Given the description of an element on the screen output the (x, y) to click on. 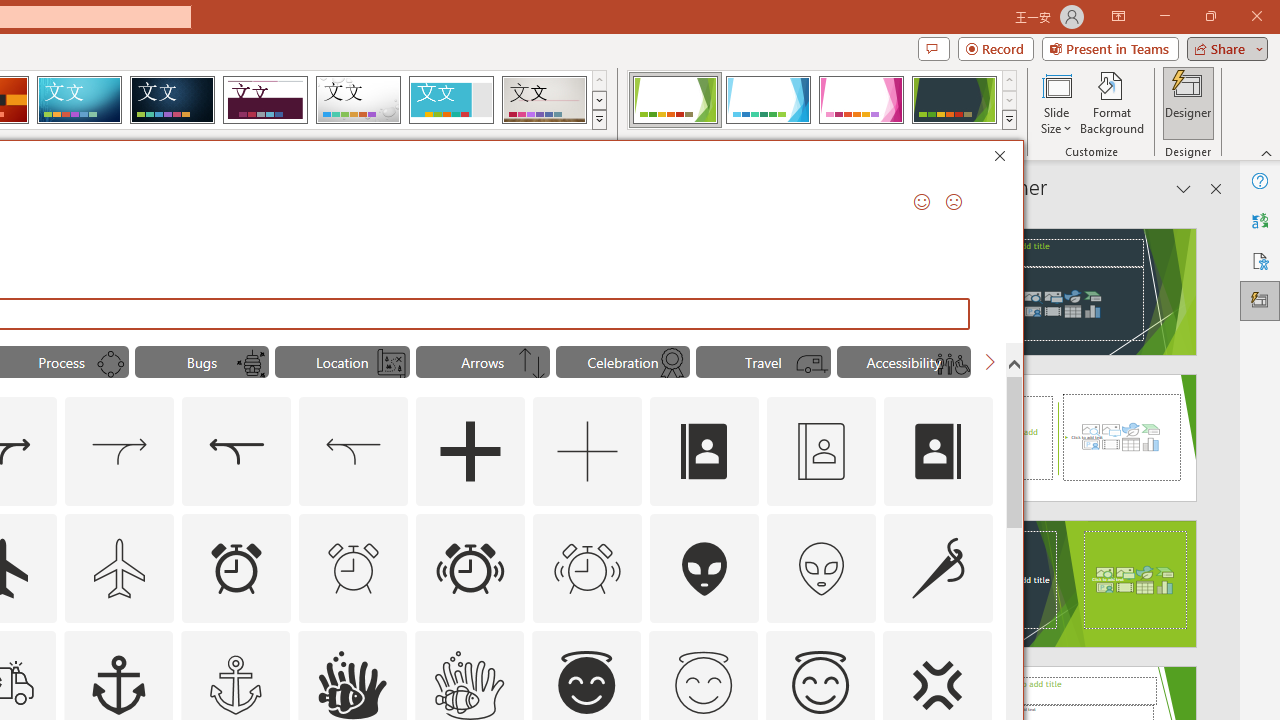
Facet Variant 1 (674, 100)
AutomationID: Icons_UniversalAccess_M (952, 364)
AutomationID: Icons_AddressBook_LTR (705, 452)
AutomationID: Icons_Add_M (587, 452)
AutomationID: Icons_Ribbon_M (671, 364)
Send a Smile (922, 201)
AutomationID: Icons_AlienFace (705, 568)
AutomationID: Icons_Airplane_M (120, 568)
"Accessibility" Icons. (904, 362)
Thumbnail (977, 645)
Facet Variant 4 (953, 100)
